Given the description of an element on the screen output the (x, y) to click on. 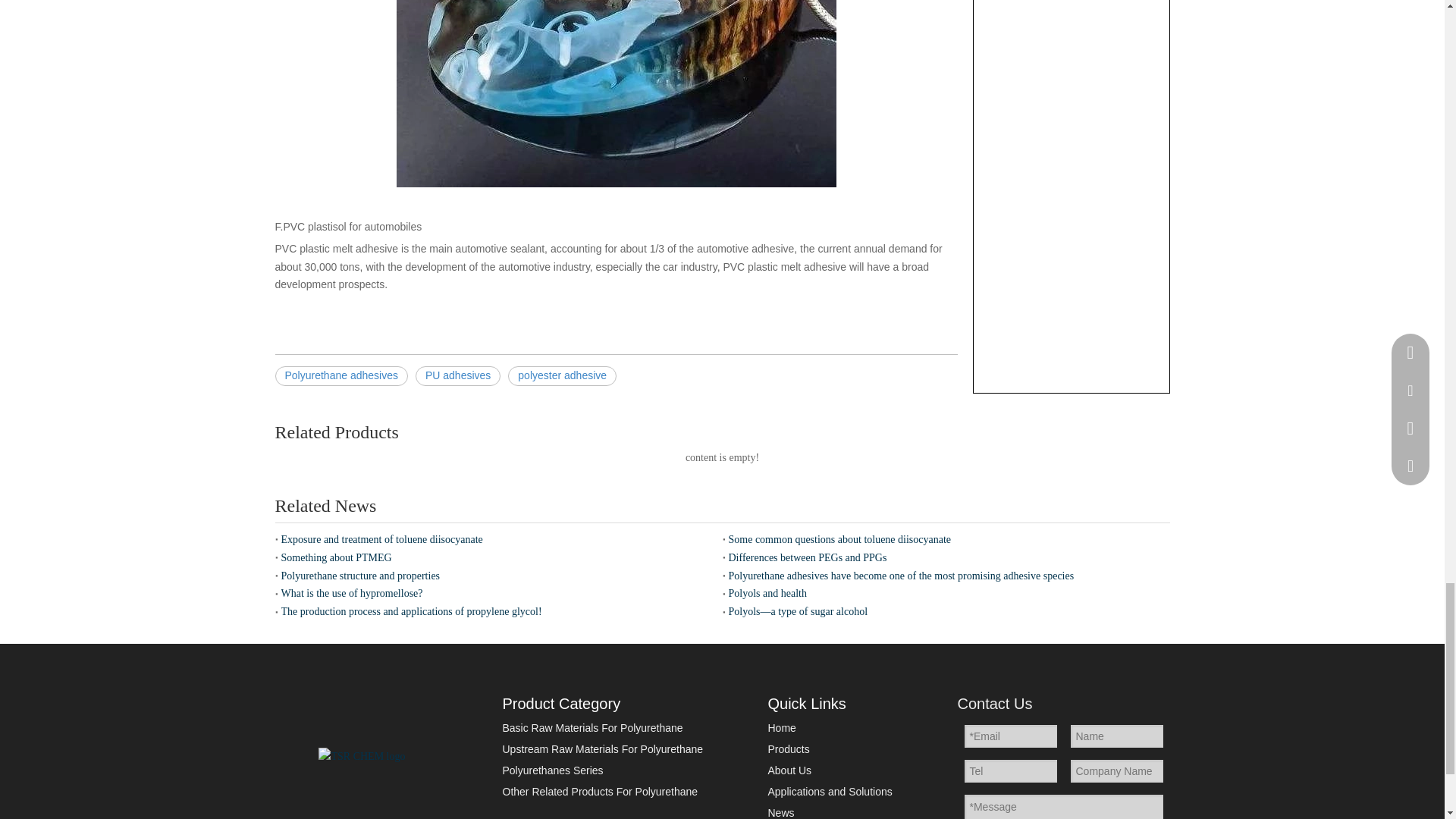
Polyurethanes Series (552, 770)
Upstream Raw Materials For Polyurethane (602, 748)
Basic Raw Materials For Polyurethane (592, 727)
PU adhesives (457, 375)
Differences between PEGs and PPGs (945, 557)
Other Related Products For Polyurethane (599, 791)
Polyols and health (945, 593)
What is the use of hypromellose? (498, 593)
polyester adhesive (561, 375)
